Given the description of an element on the screen output the (x, y) to click on. 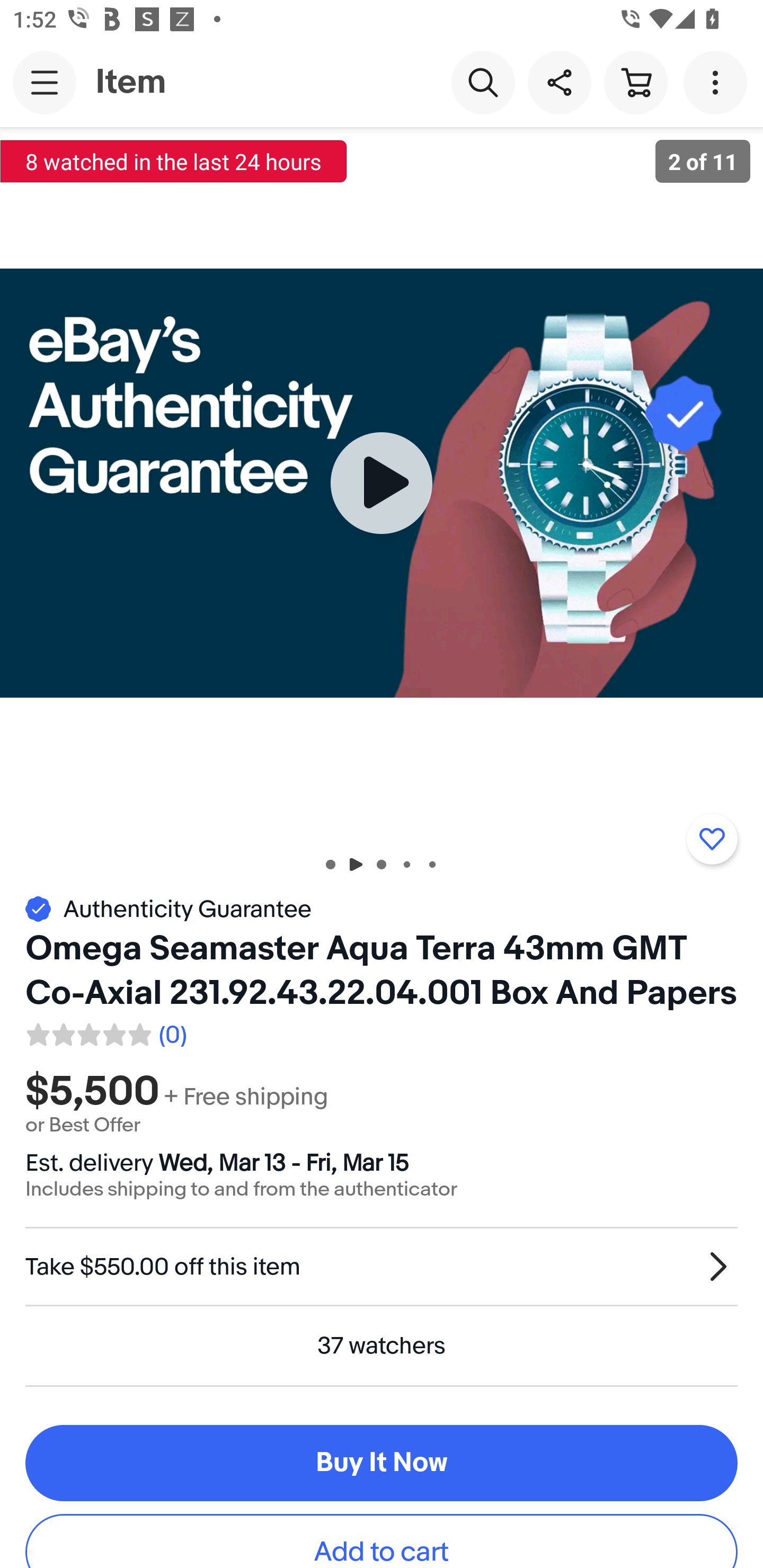
Main navigation, open (44, 82)
Search (482, 81)
Share this item (559, 81)
Cart button shopping cart (635, 81)
More options (718, 81)
Item image 2 of 11, plays video (381, 482)
8 watched in the last 24 hours (173, 161)
Add to watchlist (711, 838)
0 reviews. Average rating 0.0 out of five 0.0 (0) (105, 1031)
Buy It Now (381, 1462)
Add to cart (381, 1541)
